Given the description of an element on the screen output the (x, y) to click on. 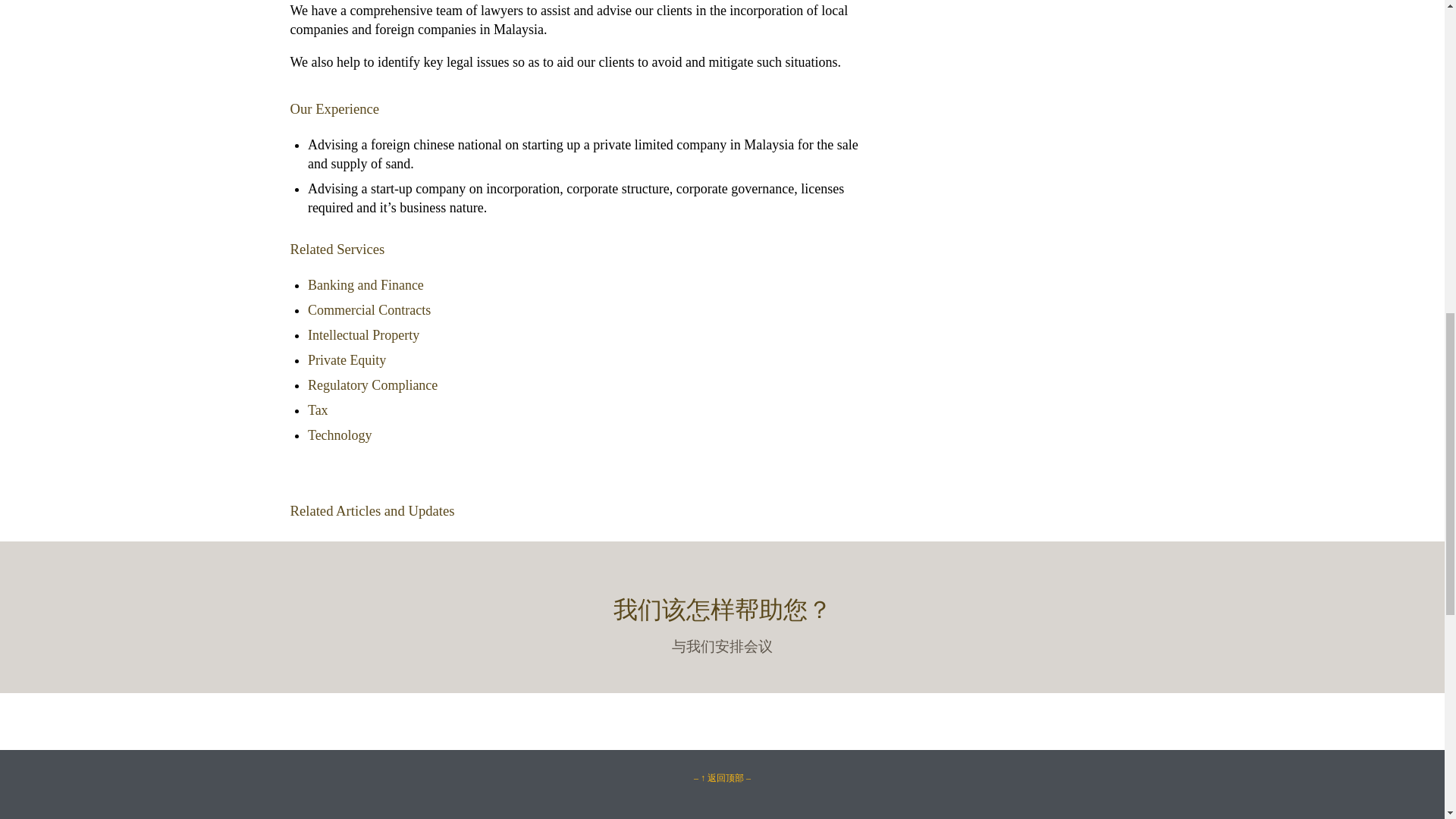
Banking and Finance (365, 284)
Regulatory Compliance (372, 385)
Tax (318, 409)
Commercial Contracts (368, 309)
Technology (339, 435)
Intellectual Property (363, 335)
Private Equity (346, 359)
